Given the description of an element on the screen output the (x, y) to click on. 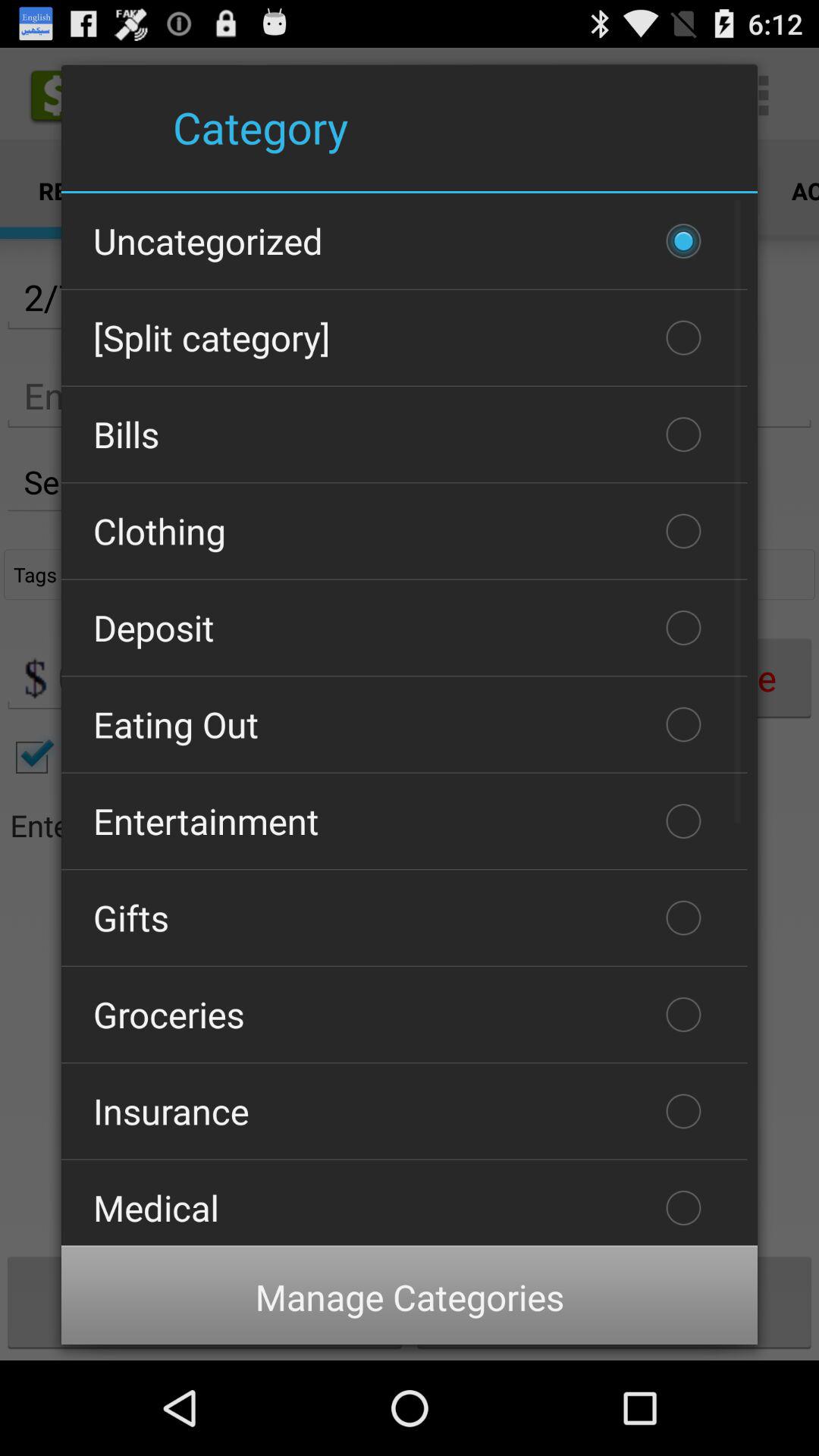
choose the [split category] (404, 337)
